Given the description of an element on the screen output the (x, y) to click on. 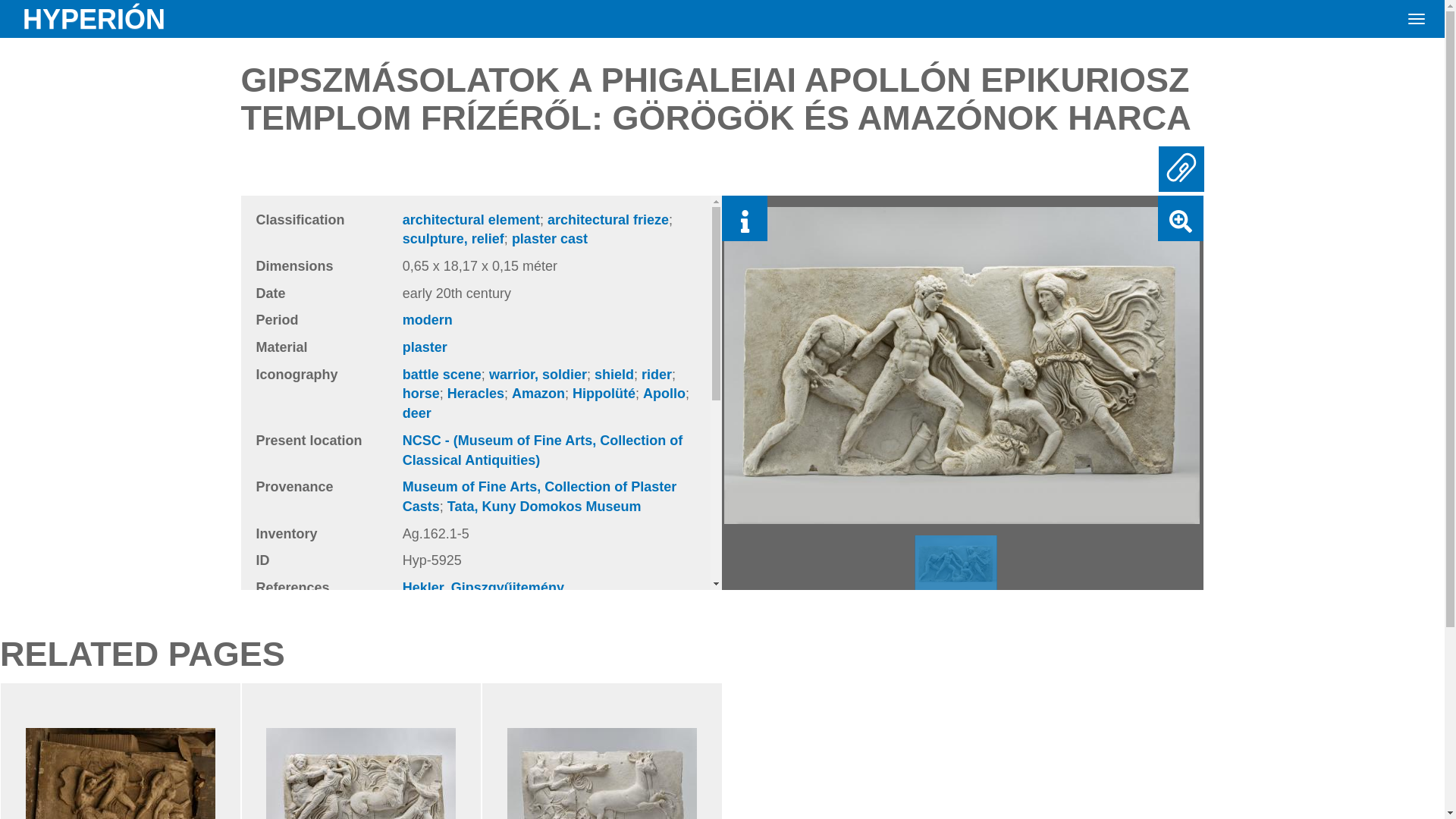
Museum of Fine Arts, Collection of Plaster Casts (540, 496)
deer (416, 412)
battle scene (442, 374)
Apollo (664, 393)
modern (427, 319)
architectural frieze (607, 219)
Amazon (538, 393)
Tata, Kuny Domokos Museum (544, 506)
plaster cast (550, 238)
sculpture, relief (453, 238)
rider (656, 374)
warrior, soldier (537, 374)
shield (613, 374)
architectural element (471, 219)
Heracles (474, 393)
